Given the description of an element on the screen output the (x, y) to click on. 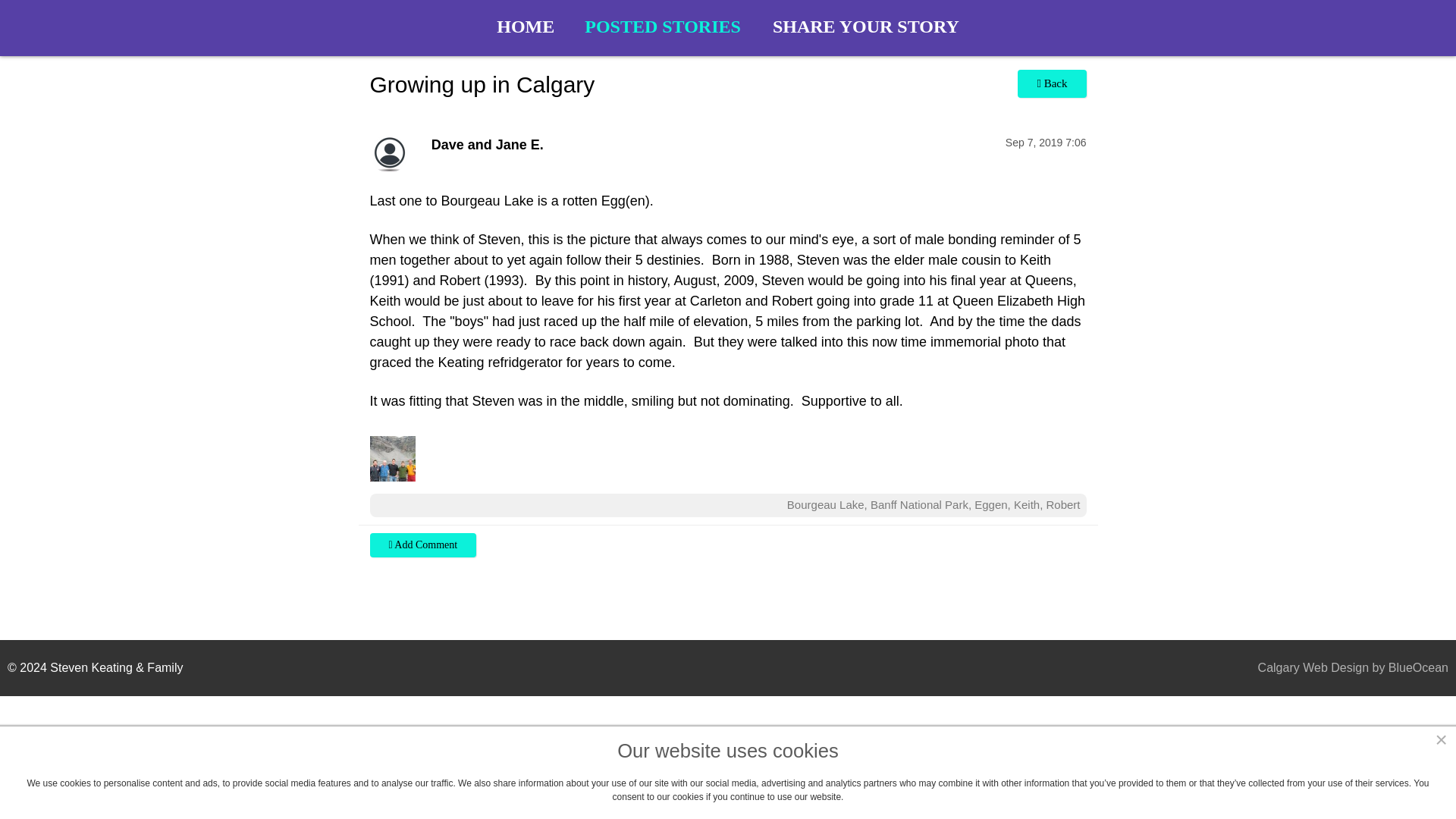
Back (1051, 83)
Calgary Web (1292, 667)
HOME (525, 27)
SHARE YOUR STORY (865, 27)
Calgary Web Design Experts - Web Candy Design (1292, 667)
Design by BlueOcean (1389, 667)
Add Comment (423, 544)
